Given the description of an element on the screen output the (x, y) to click on. 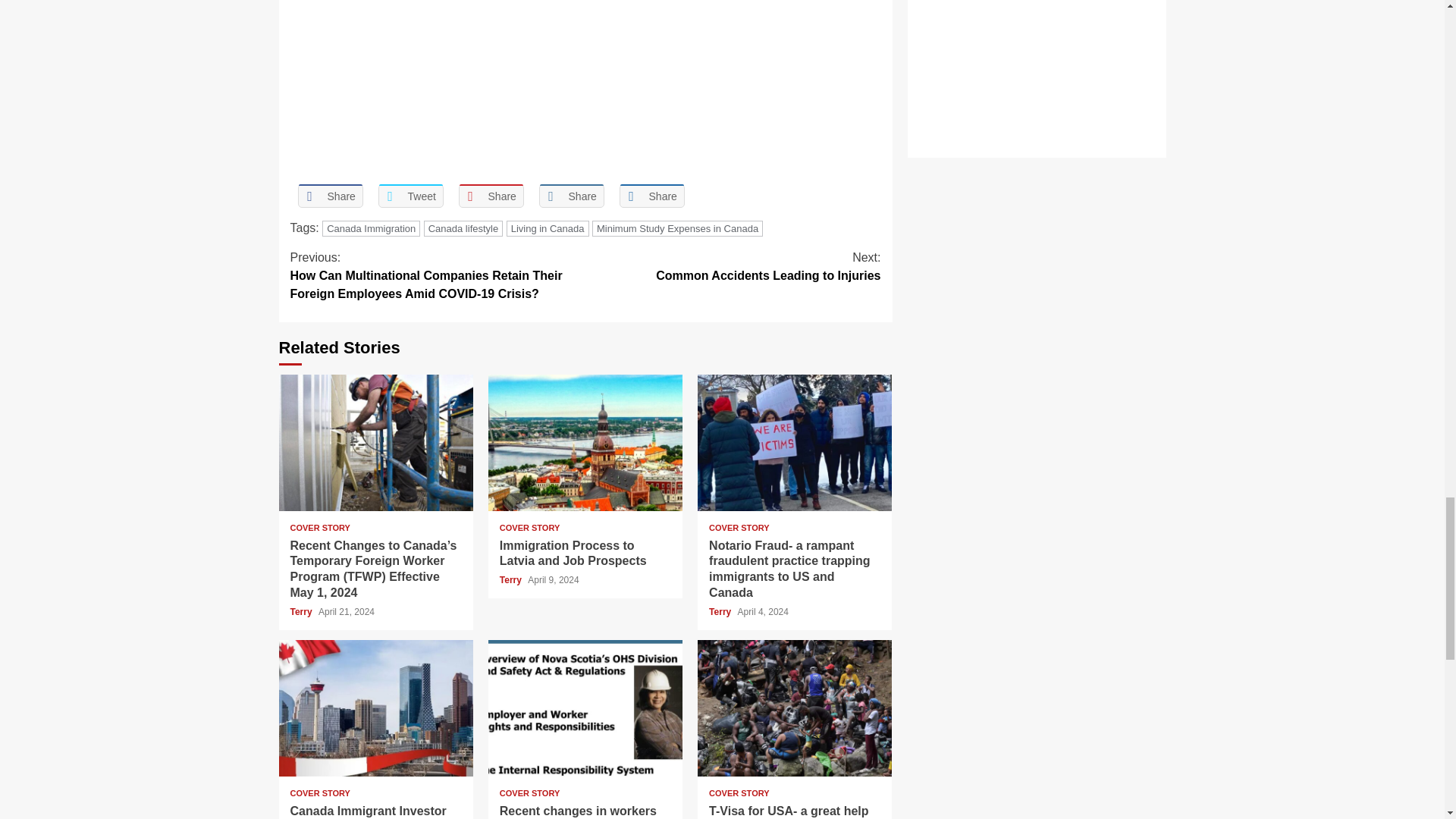
Share on Twitter (409, 196)
Share on Facebook (329, 196)
Share on Digg (651, 196)
Share on Pinterest (490, 196)
Tweet (409, 196)
Share (329, 196)
Share on LinkedIn (571, 196)
